Given the description of an element on the screen output the (x, y) to click on. 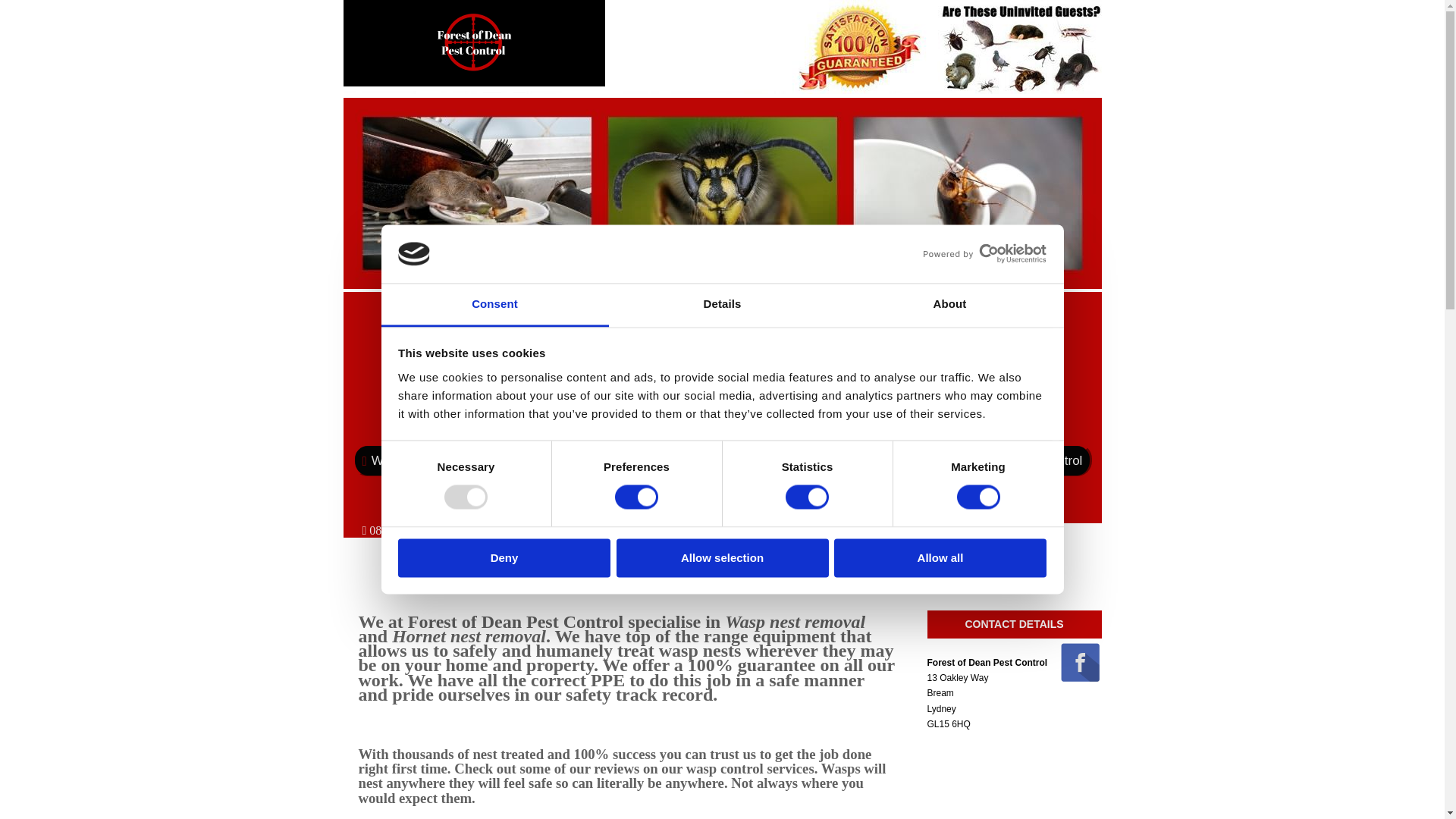
Deny (503, 557)
Return to Home Page (473, 90)
Home (438, 422)
About (948, 304)
Commercial Pest Control Services (581, 422)
Allow all (940, 557)
Residential Pest Control Services (804, 422)
Details (721, 304)
Consent (494, 304)
Allow selection (721, 557)
